Given the description of an element on the screen output the (x, y) to click on. 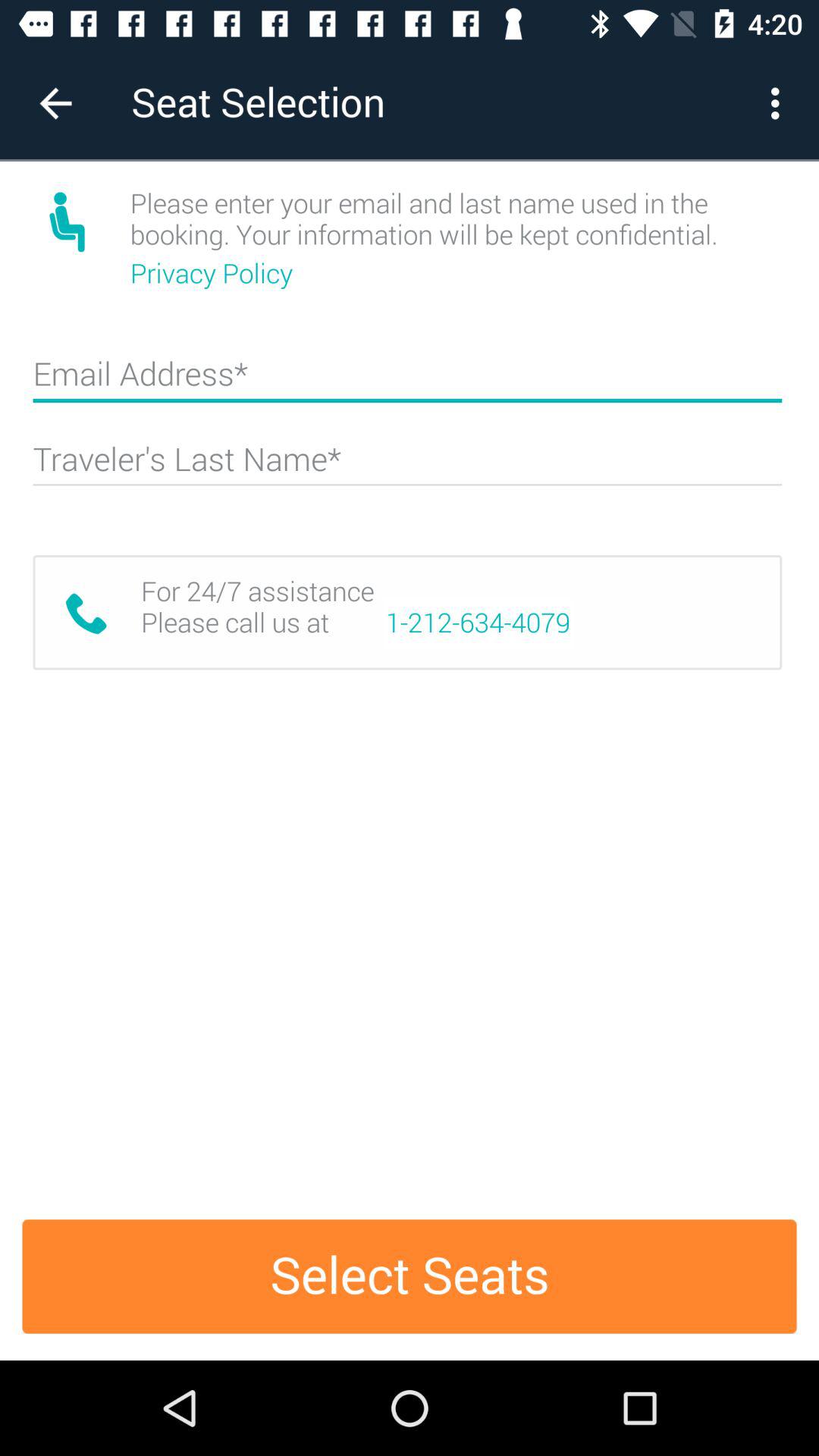
scroll until privacy policy item (214, 272)
